Given the description of an element on the screen output the (x, y) to click on. 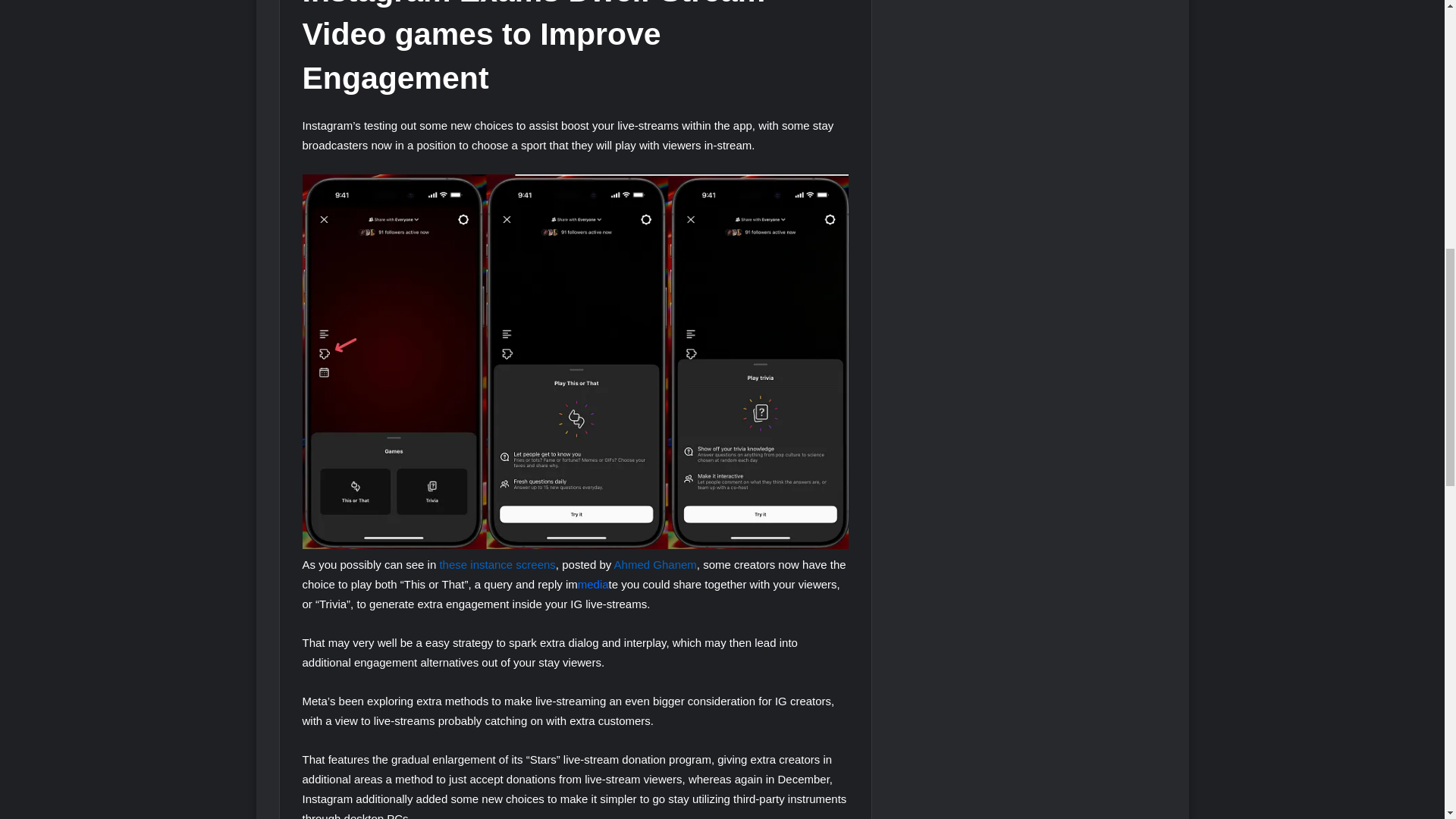
these instance screens (496, 563)
media (593, 584)
Ahmed Ghanem (655, 563)
